Given the description of an element on the screen output the (x, y) to click on. 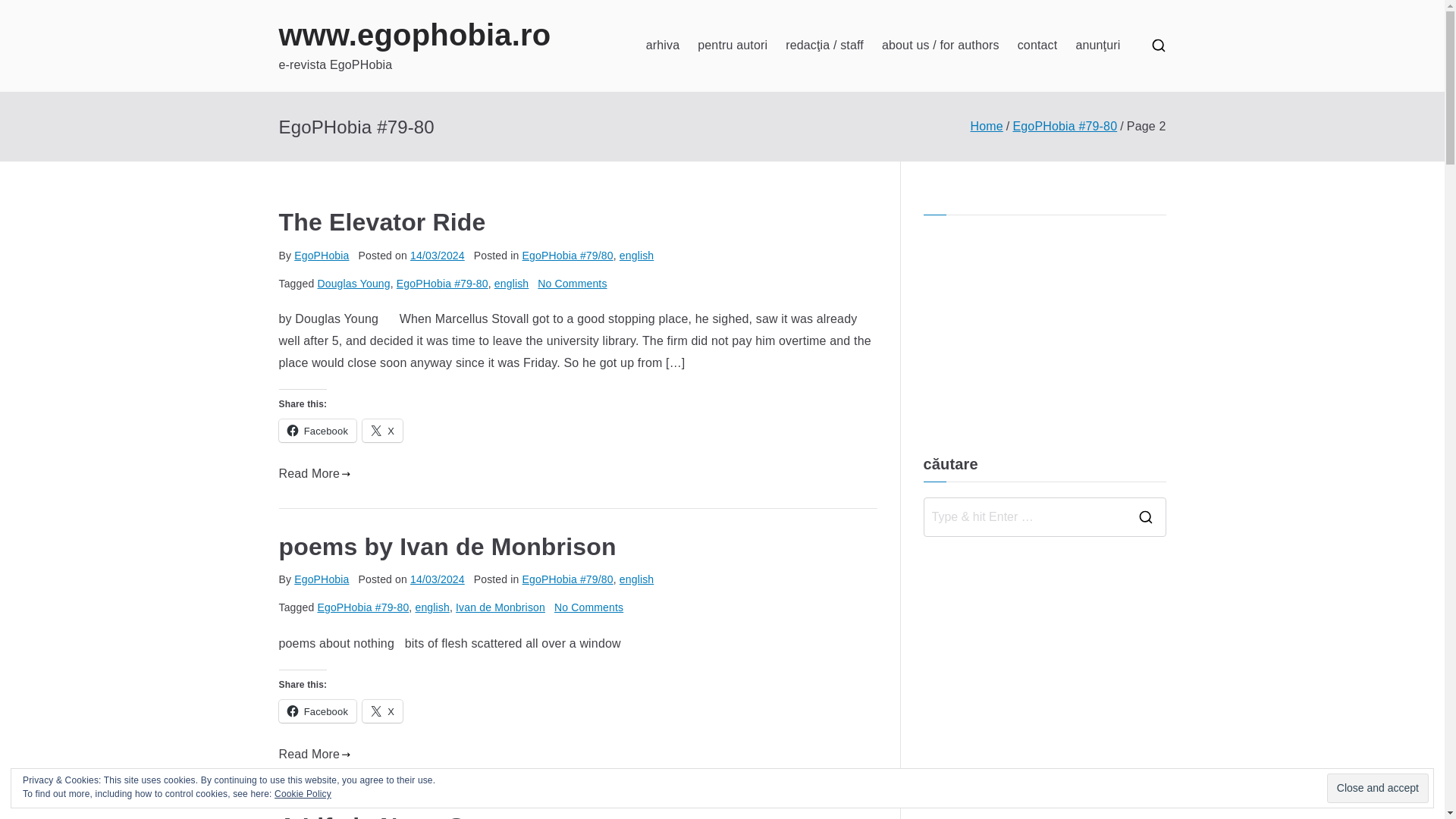
Click to share on Facebook (317, 711)
Close and accept (1377, 788)
Read More (314, 474)
Douglas Young (353, 283)
X (382, 430)
Click to share on Facebook (317, 430)
www.egophobia.ro (415, 34)
english (636, 579)
pentru autori (732, 45)
The Elevator Ride (382, 221)
